Given the description of an element on the screen output the (x, y) to click on. 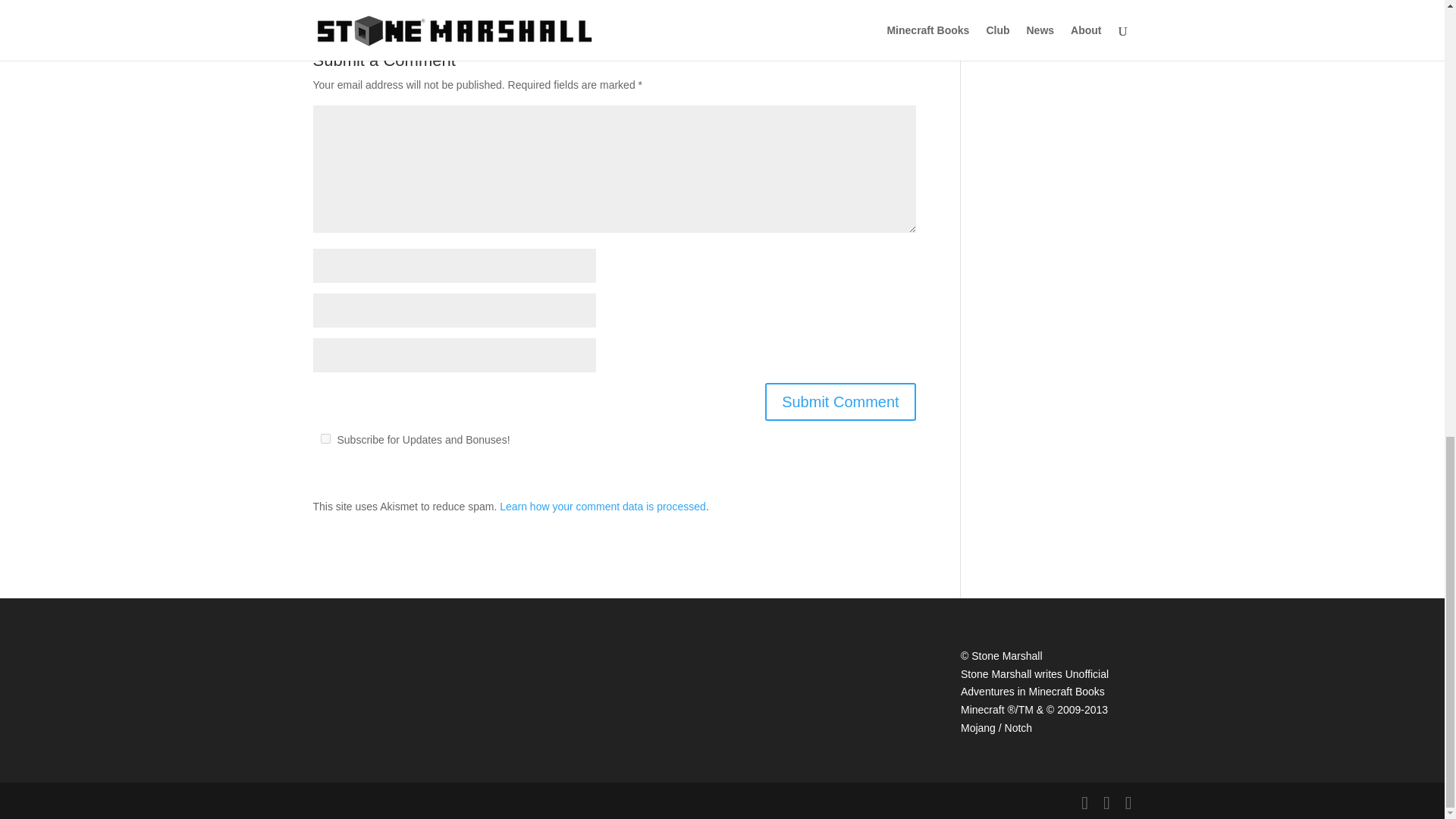
Submit Comment (840, 401)
Submit Comment (840, 401)
1 (324, 438)
Learn how your comment data is processed (602, 506)
